Given the description of an element on the screen output the (x, y) to click on. 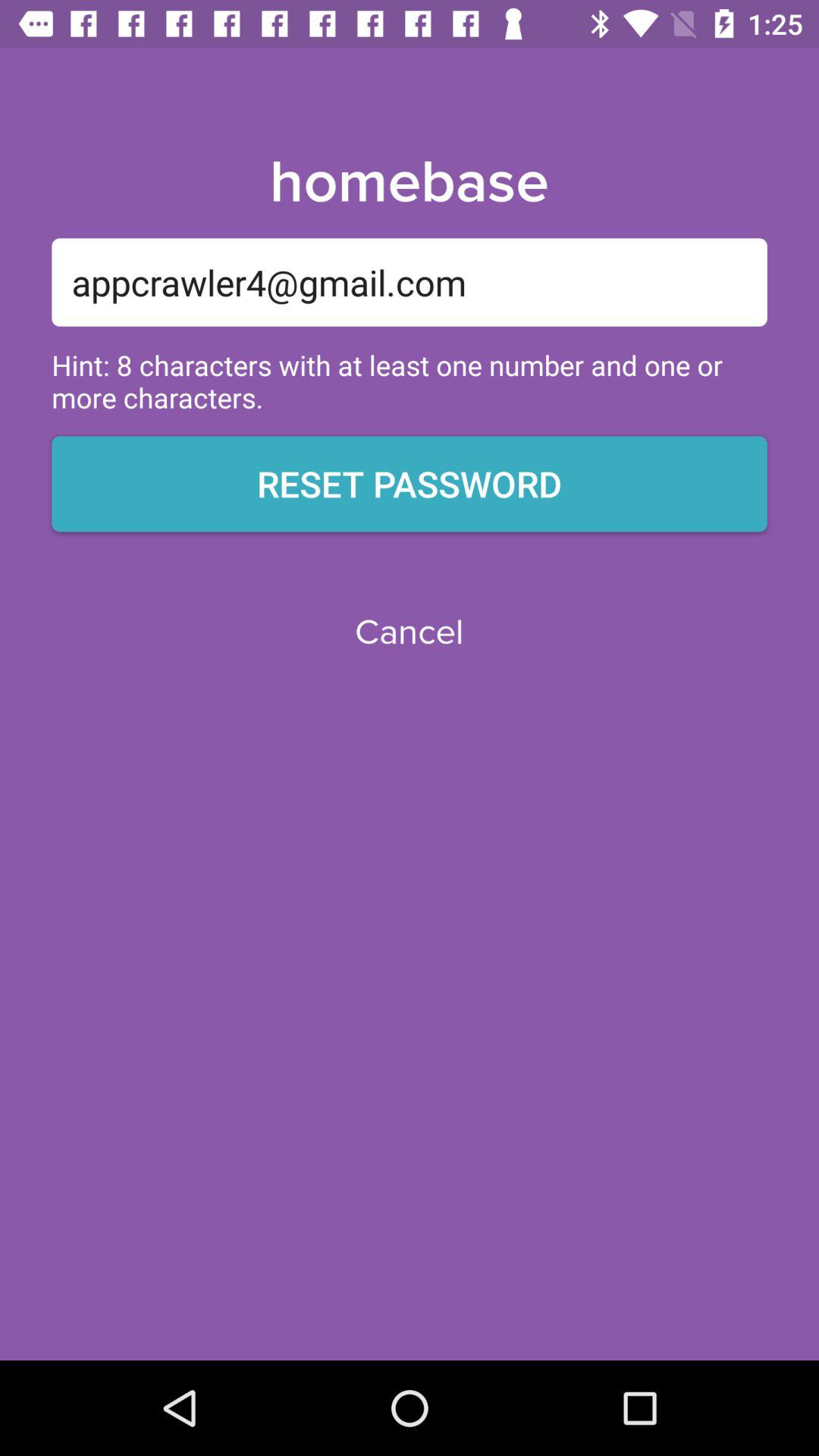
press the icon above cancel icon (409, 483)
